Given the description of an element on the screen output the (x, y) to click on. 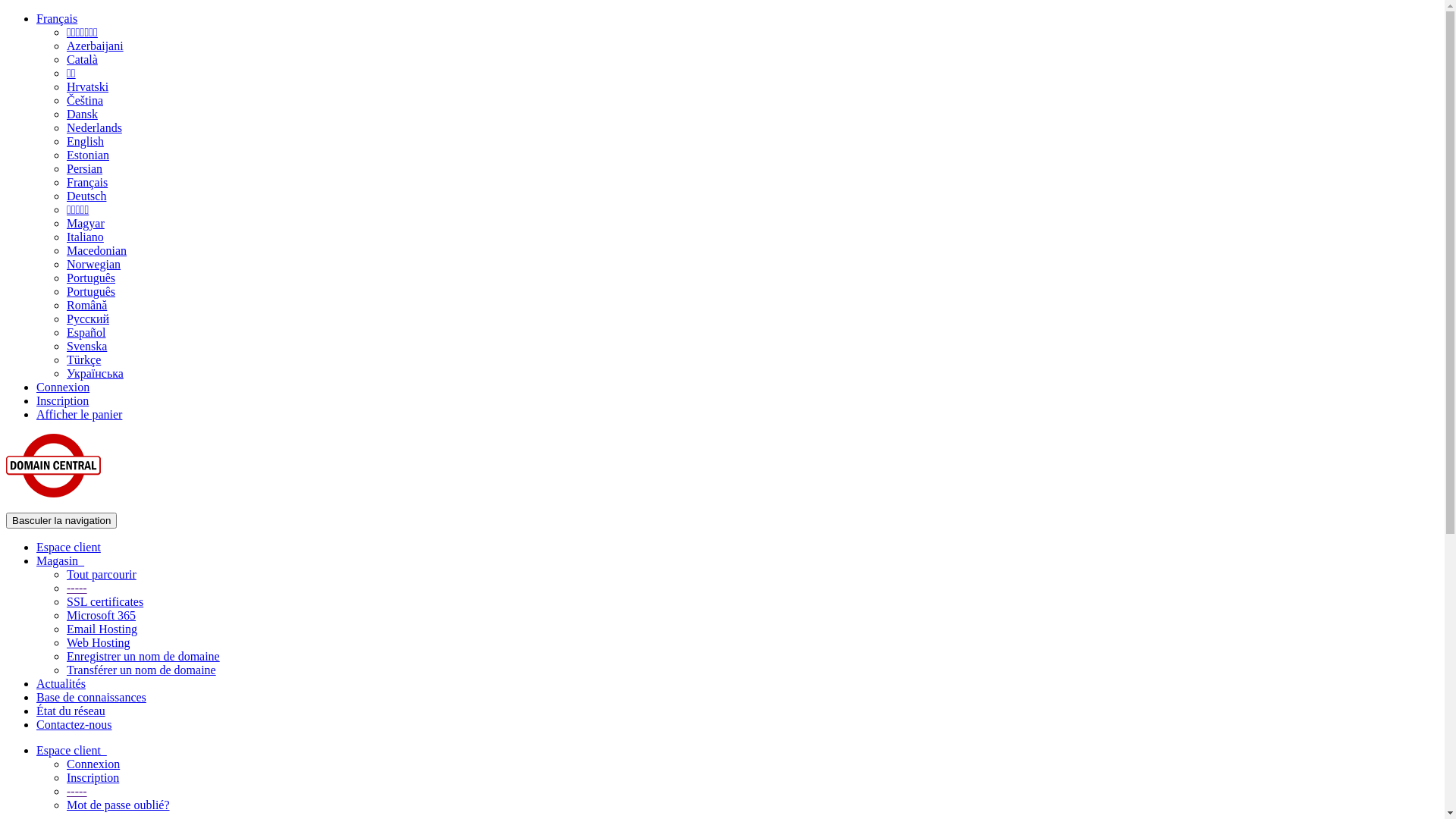
Connexion Element type: text (92, 763)
Estonian Element type: text (87, 154)
Azerbaijani Element type: text (94, 45)
Email Hosting Element type: text (101, 628)
Macedonian Element type: text (96, 250)
Enregistrer un nom de domaine Element type: text (142, 655)
Espace client Element type: text (68, 546)
Magasin   Element type: text (60, 560)
Hrvatski Element type: text (87, 86)
Italiano Element type: text (84, 236)
Contactez-nous Element type: text (74, 724)
Basculer la navigation Element type: text (61, 520)
Web Hosting Element type: text (98, 642)
Microsoft 365 Element type: text (100, 614)
English Element type: text (84, 140)
Connexion Element type: text (62, 386)
Inscription Element type: text (62, 400)
Magyar Element type: text (85, 222)
----- Element type: text (76, 790)
Norwegian Element type: text (93, 263)
Tout parcourir Element type: text (101, 573)
Espace client   Element type: text (71, 749)
Dansk Element type: text (81, 113)
Inscription Element type: text (92, 777)
Nederlands Element type: text (94, 127)
----- Element type: text (76, 587)
Svenska Element type: text (86, 345)
SSL certificates Element type: text (104, 601)
Base de connaissances Element type: text (91, 696)
Afficher le panier Element type: text (79, 413)
Persian Element type: text (84, 168)
Deutsch Element type: text (86, 195)
Domain Central ANZ Element type: hover (53, 465)
